Given the description of an element on the screen output the (x, y) to click on. 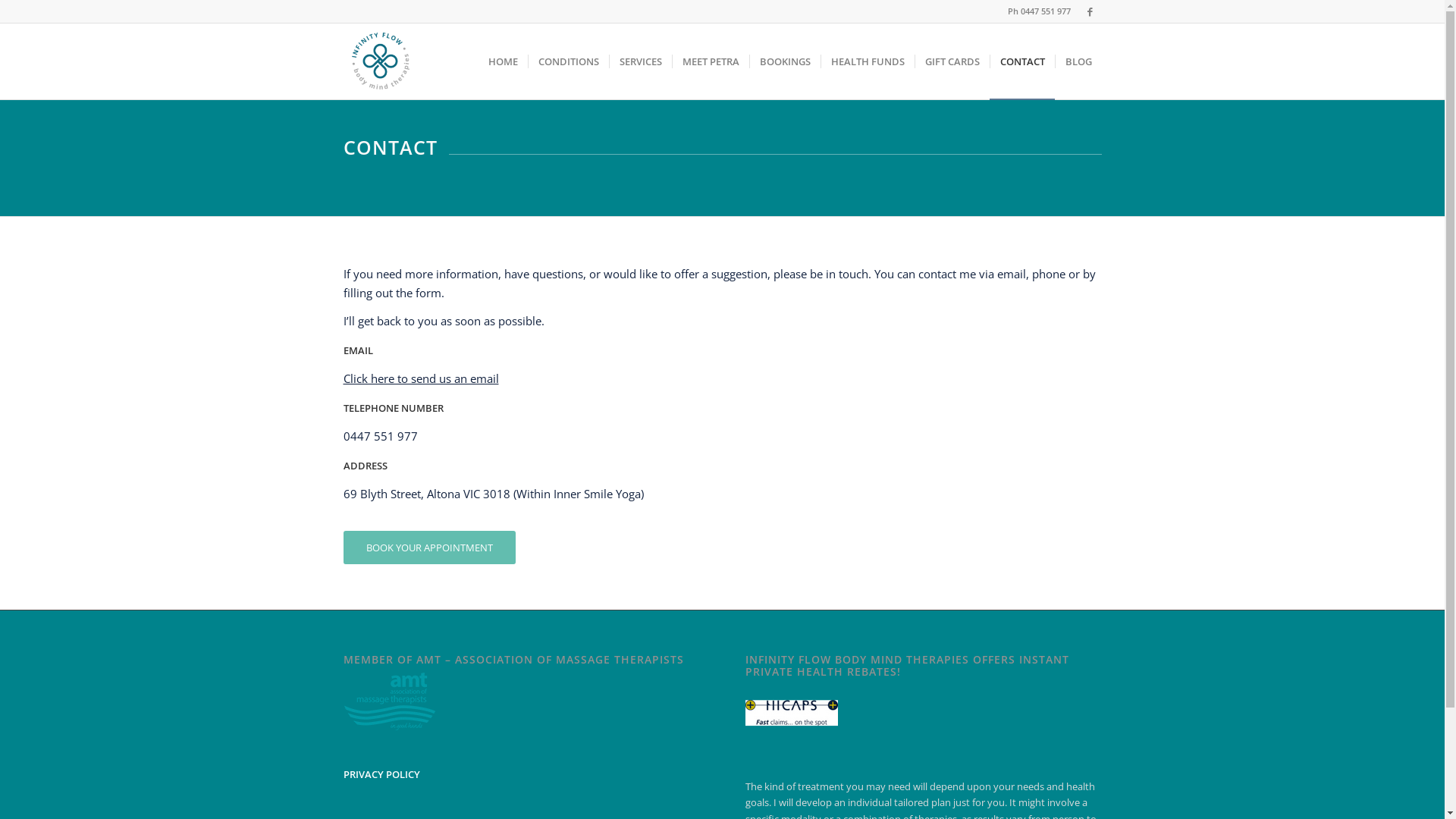
SERVICES Element type: text (639, 61)
BOOKINGS Element type: text (784, 61)
HOME Element type: text (502, 61)
Member of AMT - Association of Massage Therapists Element type: hover (388, 701)
HEALTH FUNDS Element type: text (867, 61)
PRIVACY POLICY Element type: text (380, 774)
GIFT CARDS Element type: text (951, 61)
BOOK YOUR APPOINTMENT Element type: text (428, 547)
Facebook Element type: hover (1089, 11)
BLOG Element type: text (1077, 61)
CONDITIONS Element type: text (567, 61)
Click here to send us an email Element type: text (420, 377)
MEET PETRA Element type: text (710, 61)
CONTACT Element type: text (1021, 61)
